Given the description of an element on the screen output the (x, y) to click on. 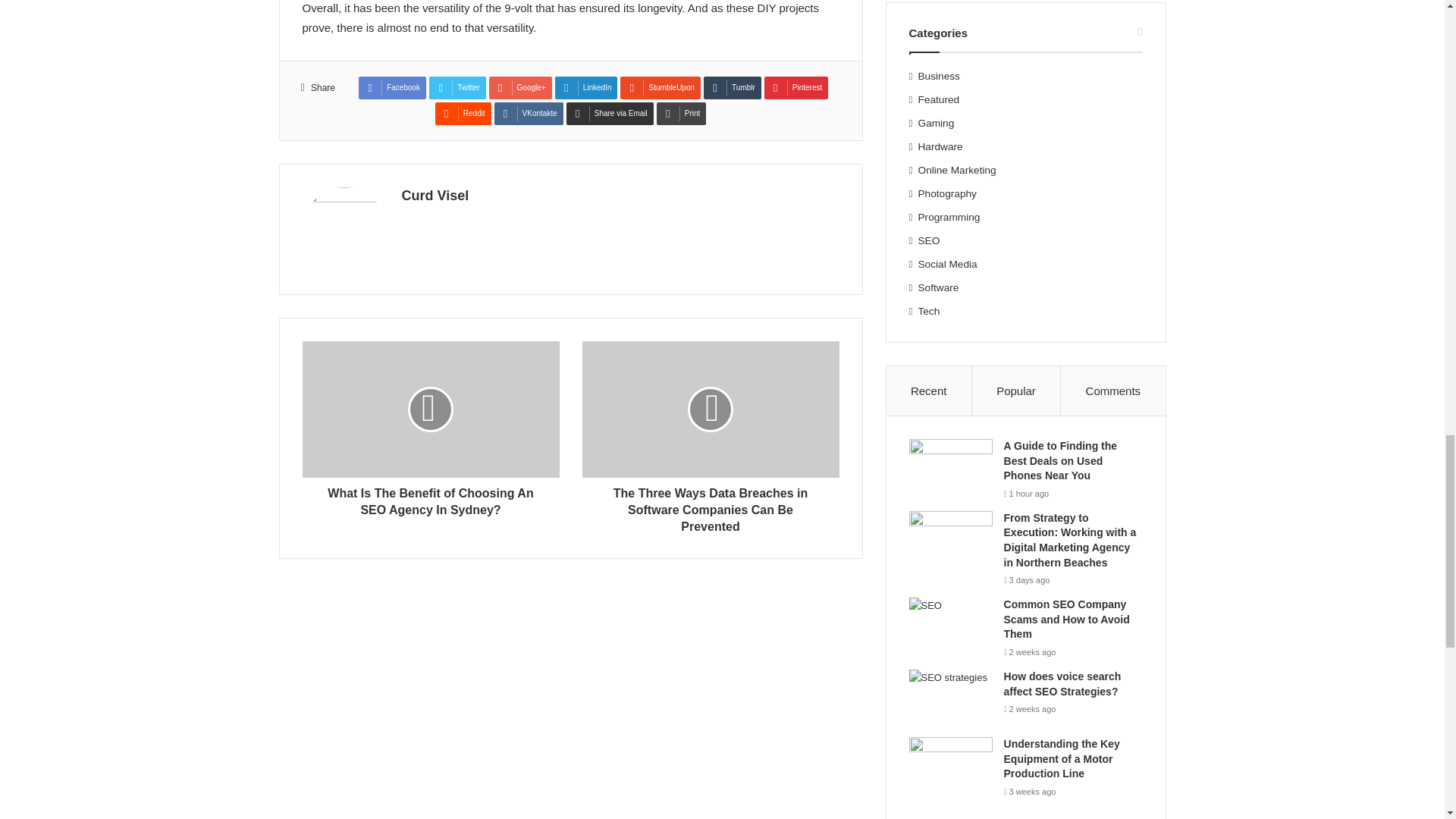
A Guide to Finding the Best Deals on Used Phones Near You (950, 467)
Facebook (392, 87)
